Given the description of an element on the screen output the (x, y) to click on. 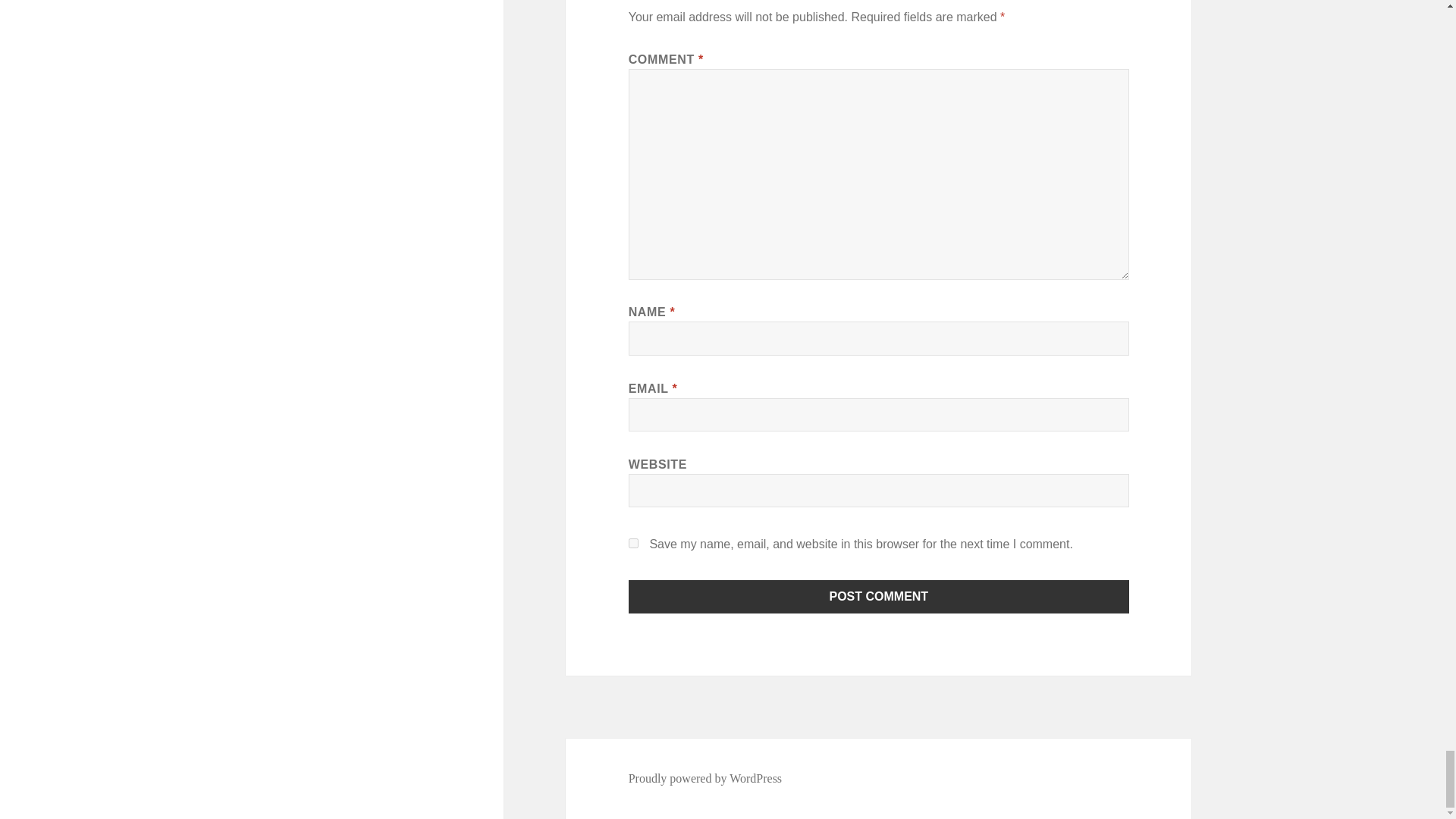
Proudly powered by WordPress (704, 778)
Post Comment (878, 595)
yes (633, 542)
Post Comment (878, 595)
